Given the description of an element on the screen output the (x, y) to click on. 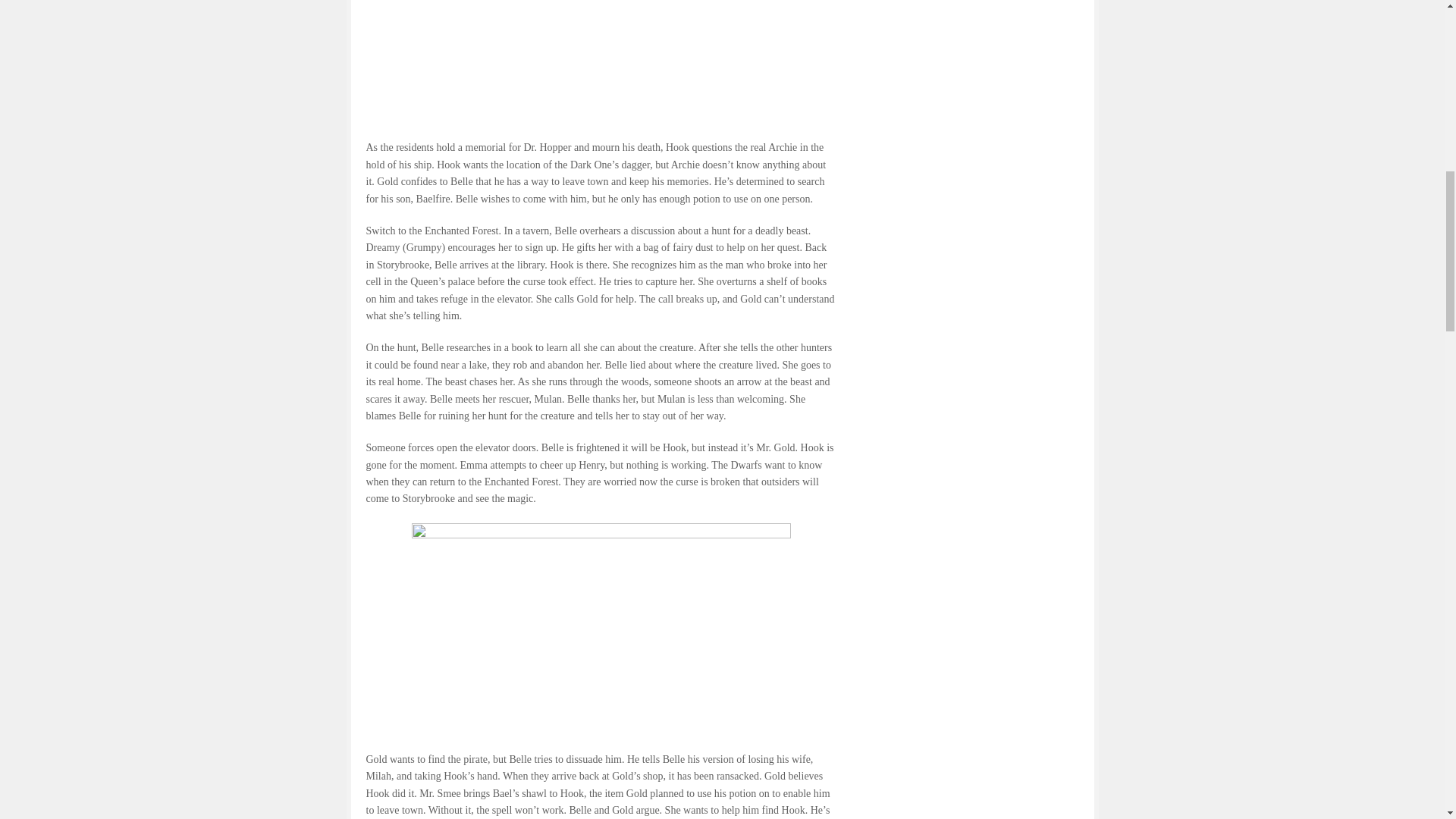
once211-5 (600, 629)
once211-4 (600, 62)
